Given the description of an element on the screen output the (x, y) to click on. 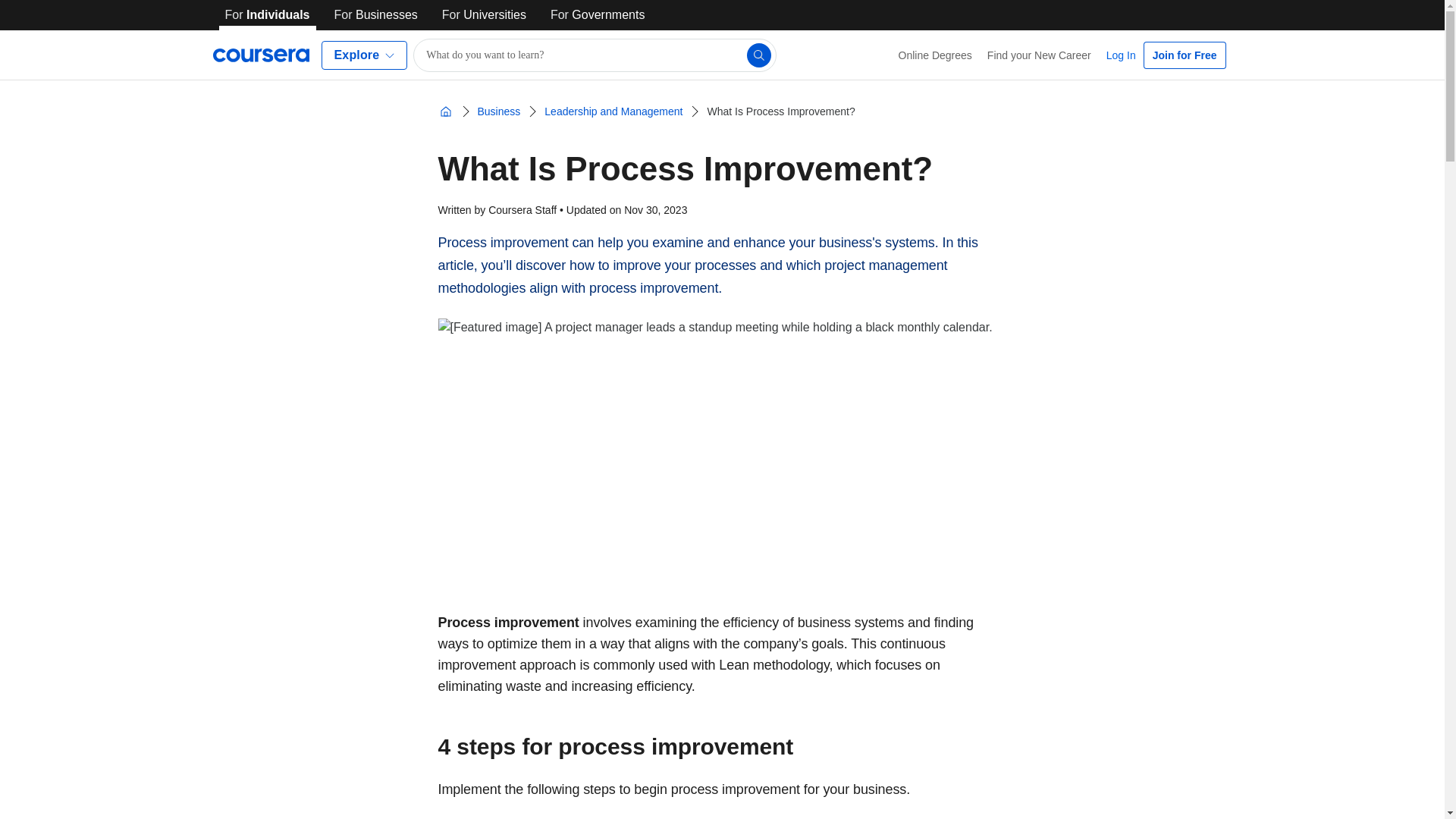
What Is Process Improvement? (780, 111)
For Universities (483, 15)
For Businesses (376, 15)
Business (499, 111)
For Governments (597, 15)
Explore (364, 54)
Log In (1120, 54)
For Individuals (266, 15)
Online Degrees (935, 54)
Join for Free (1183, 53)
Find your New Career (1039, 54)
Leadership and Management (613, 111)
